Given the description of an element on the screen output the (x, y) to click on. 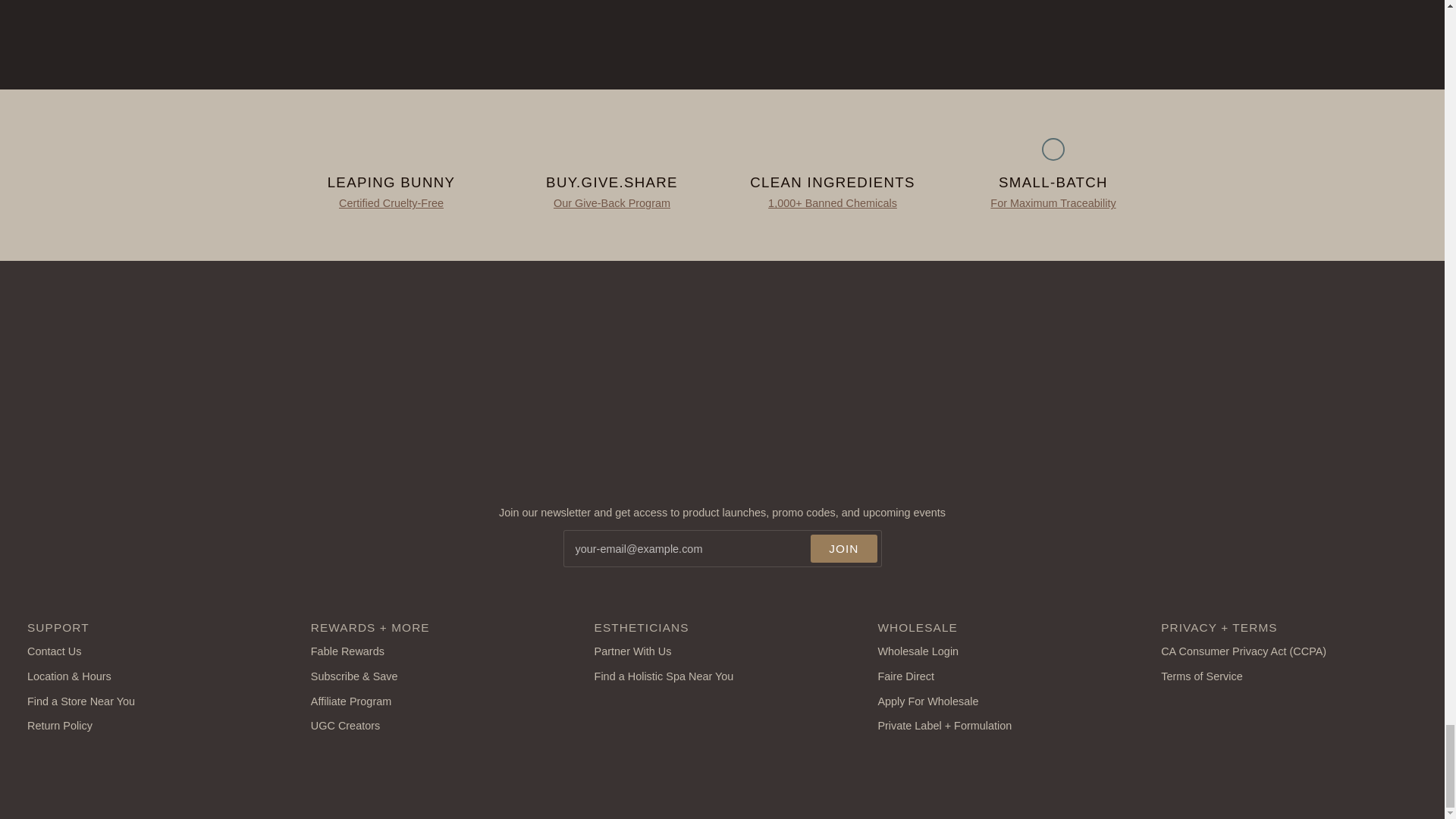
Buy.Give.Share. (611, 203)
Brand Ethos (1052, 203)
Our Ingredients (832, 203)
